Given the description of an element on the screen output the (x, y) to click on. 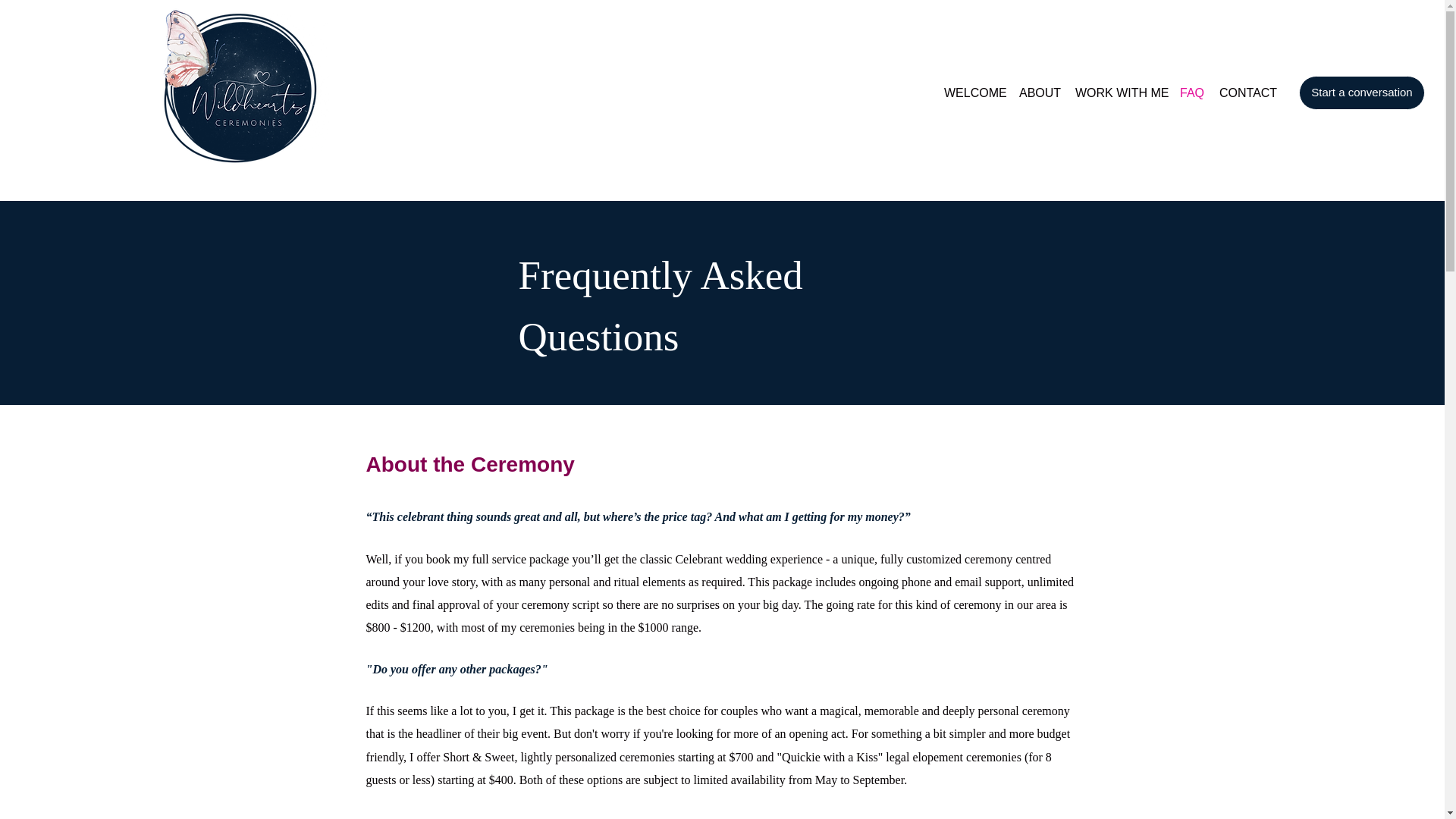
CONTACT (1247, 93)
Start a conversation (1361, 92)
FAQ (1191, 93)
ABOUT (1039, 93)
WELCOME (973, 93)
